Given the description of an element on the screen output the (x, y) to click on. 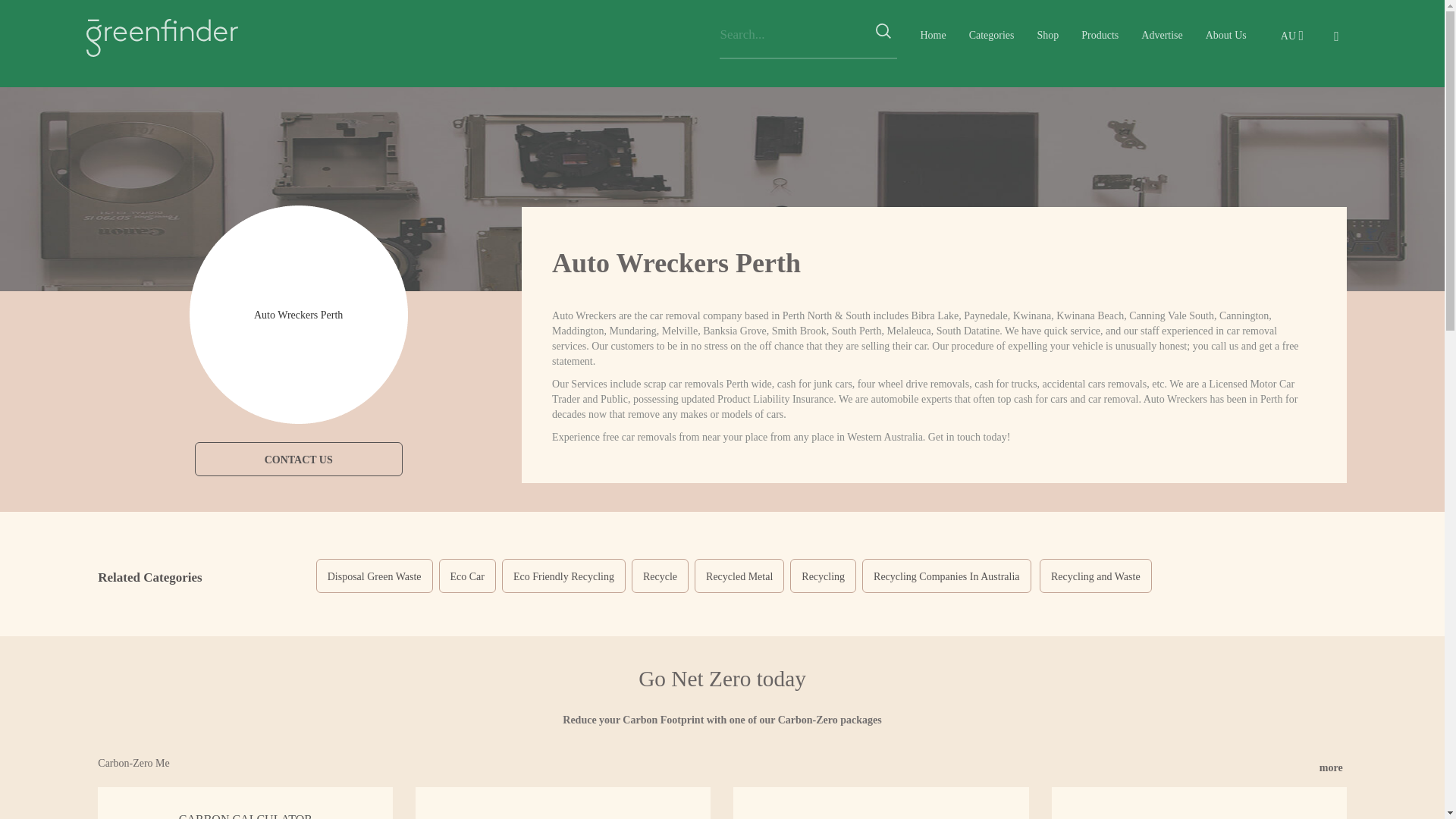
Categories (992, 35)
Shop (1048, 35)
About Us (1225, 35)
Eco Friendly Recycling (564, 575)
Disposal Green Waste (373, 575)
AU (1295, 35)
AU (1295, 35)
0 (1340, 35)
Products (1099, 35)
Home (932, 35)
CONTACT US (299, 458)
Categories (992, 35)
greenfinder (161, 37)
Shop (1048, 35)
Recycling and Waste (1095, 575)
